Given the description of an element on the screen output the (x, y) to click on. 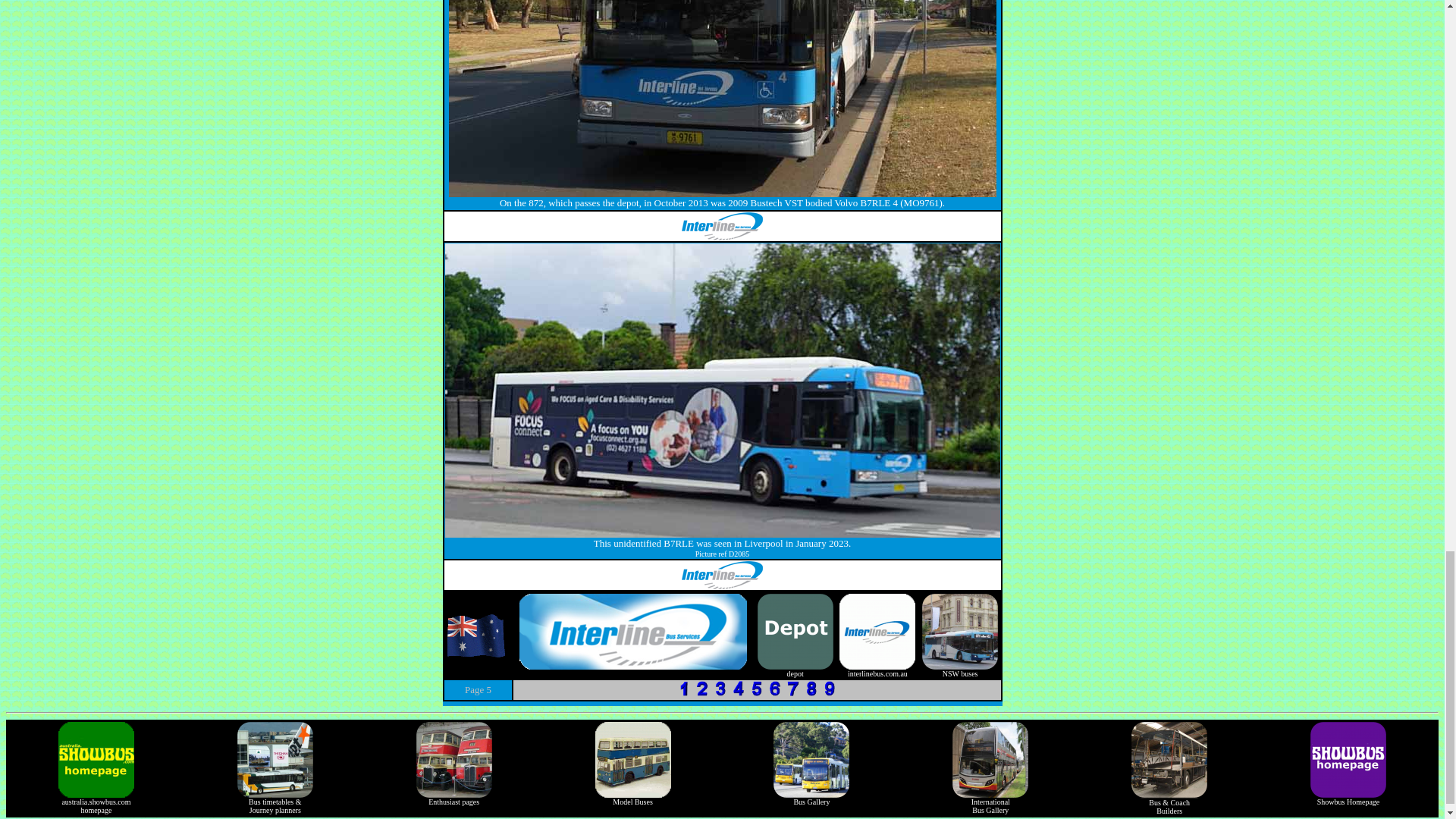
interlinebus.com.au (95, 800)
depot (877, 668)
NSW buses (794, 668)
